Given the description of an element on the screen output the (x, y) to click on. 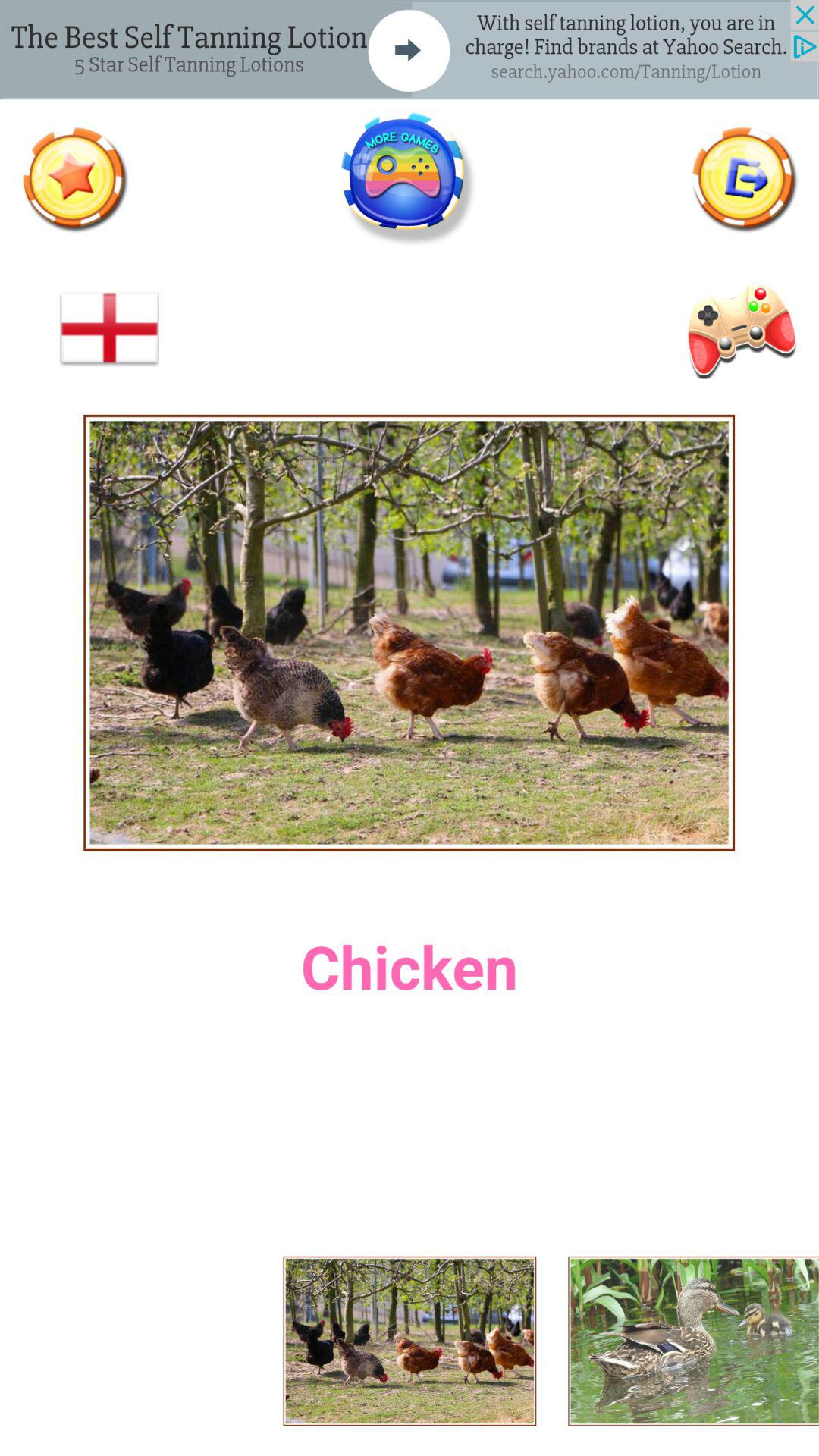
play the game (408, 179)
